Given the description of an element on the screen output the (x, y) to click on. 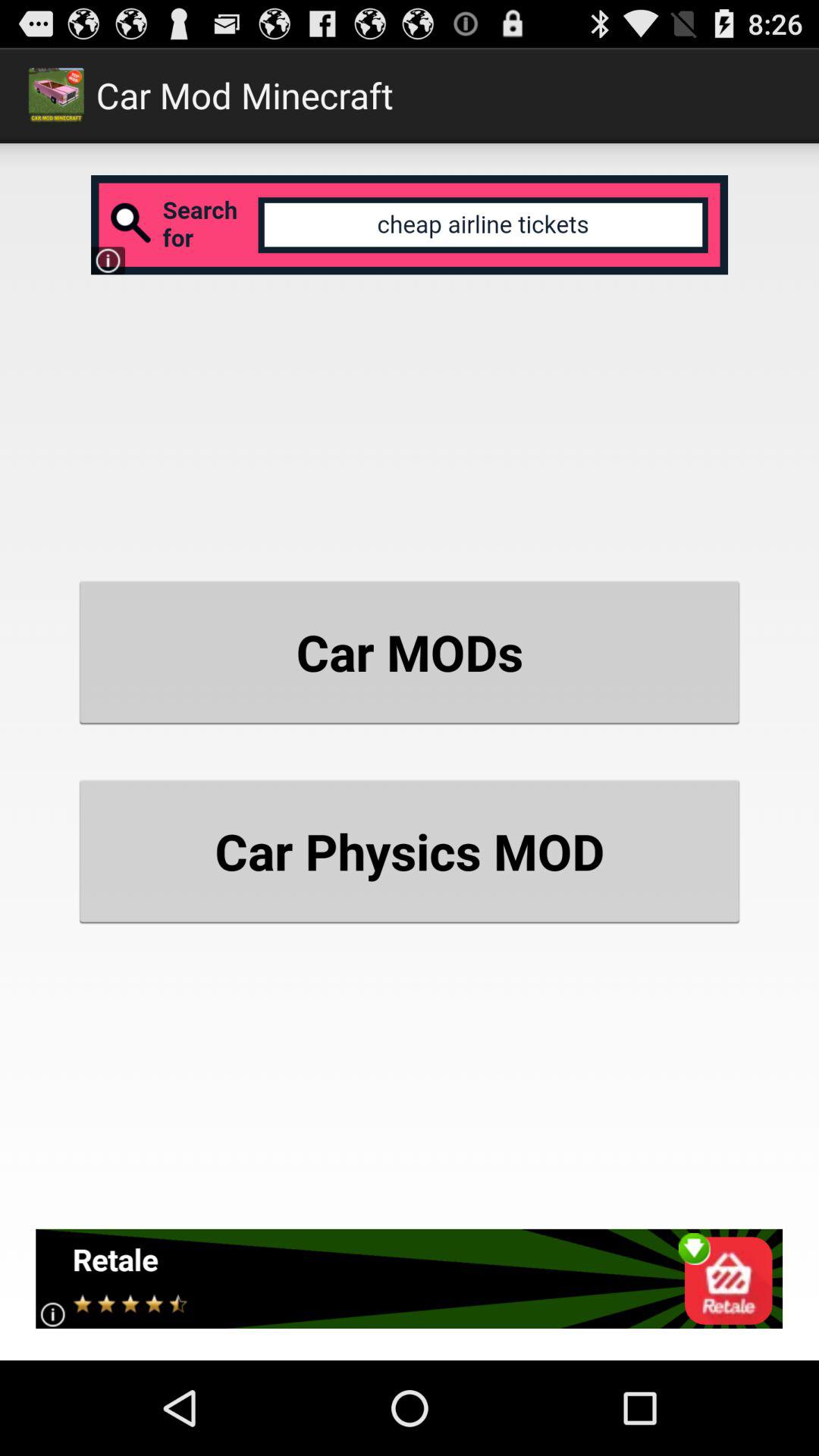
choose item above the car mods item (409, 224)
